Given the description of an element on the screen output the (x, y) to click on. 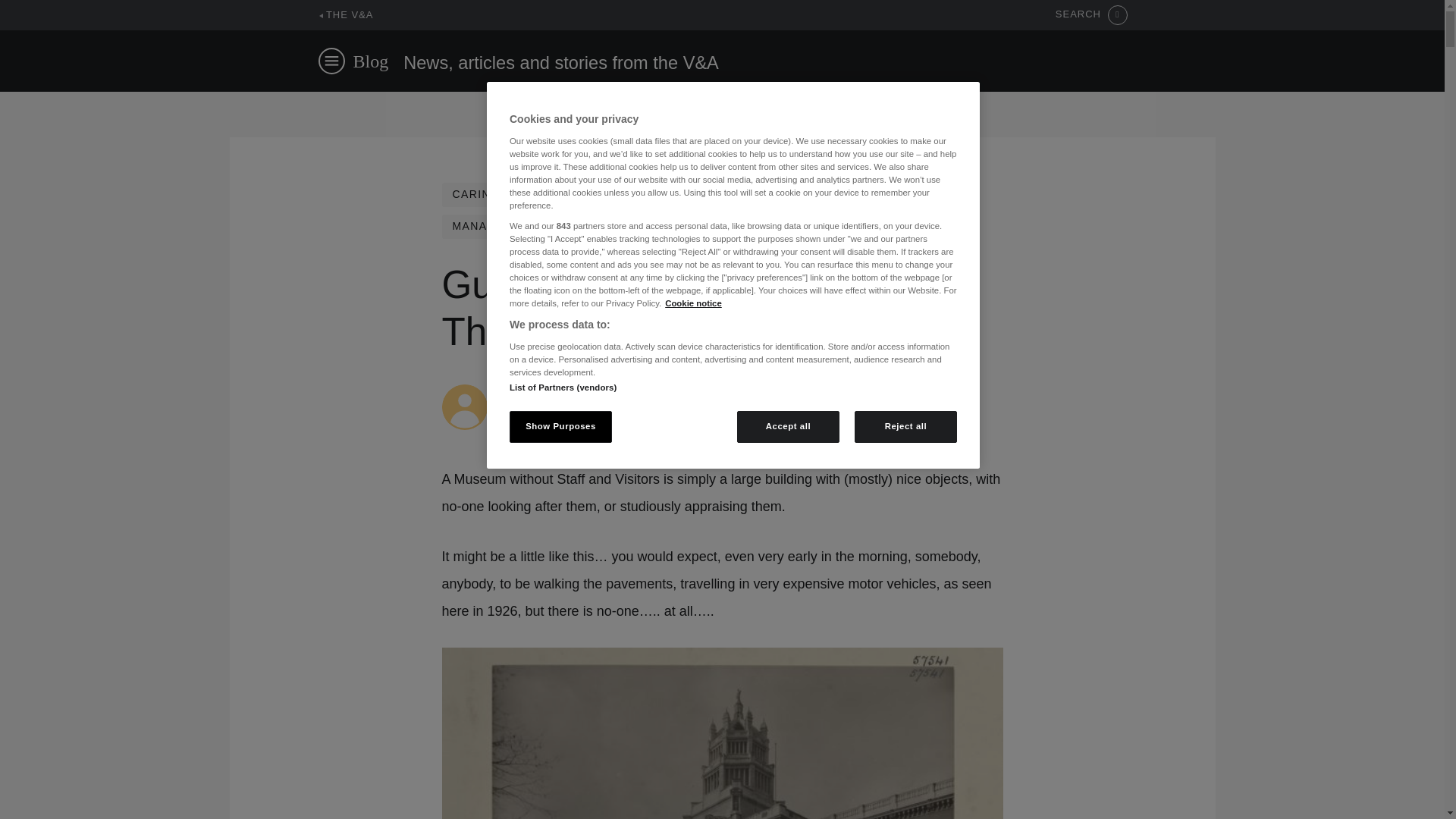
CARING FOR OUR COLLECTIONS (551, 194)
Steve Woodhouse (546, 391)
Blog (370, 60)
CONSERVATION (730, 194)
Posts by Steve Woodhouse (546, 391)
MANAGING OUR COLLECTIONS (545, 226)
SEARCH (1090, 15)
